Given the description of an element on the screen output the (x, y) to click on. 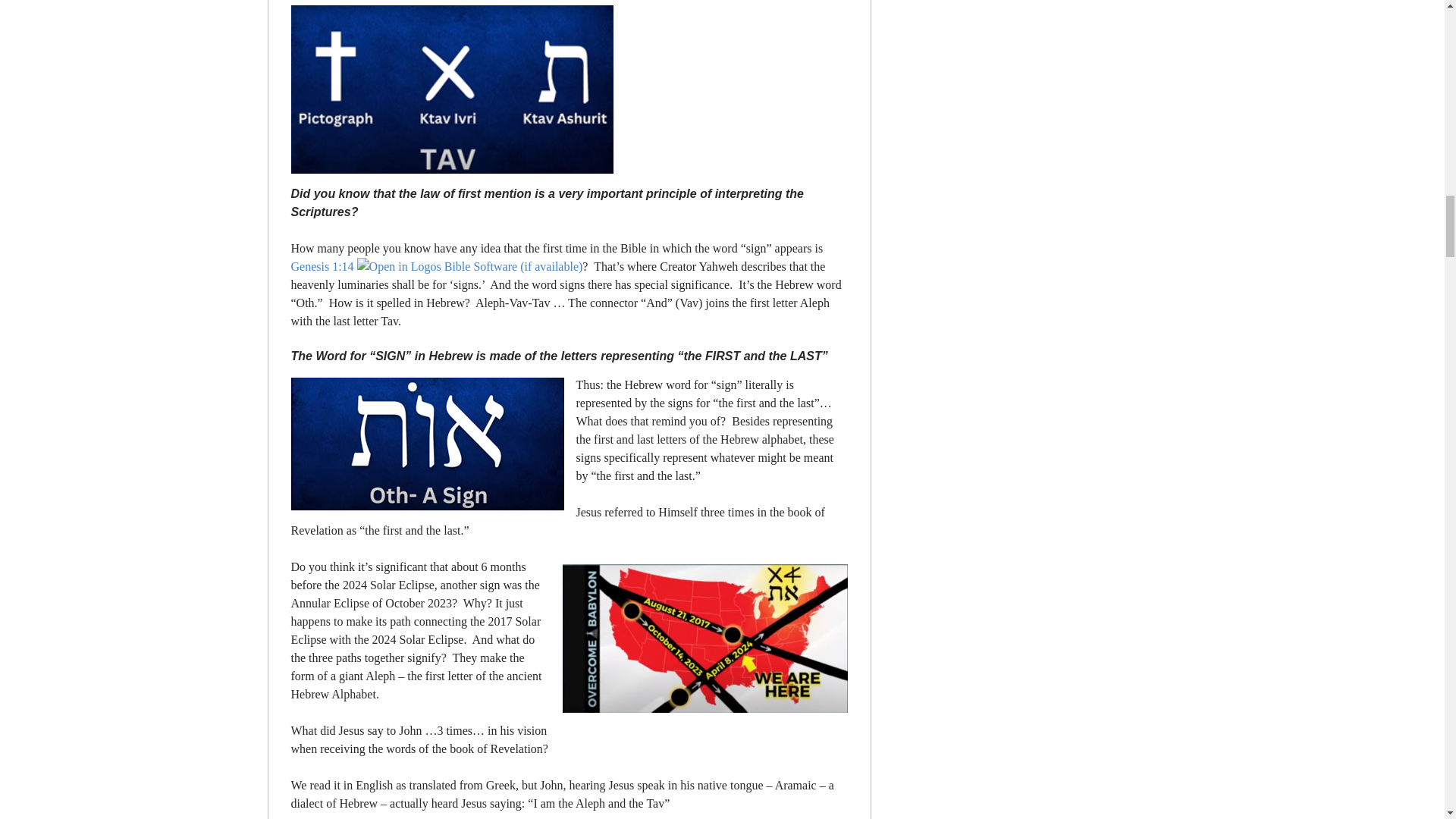
Genesis 1:14 (322, 266)
